Given the description of an element on the screen output the (x, y) to click on. 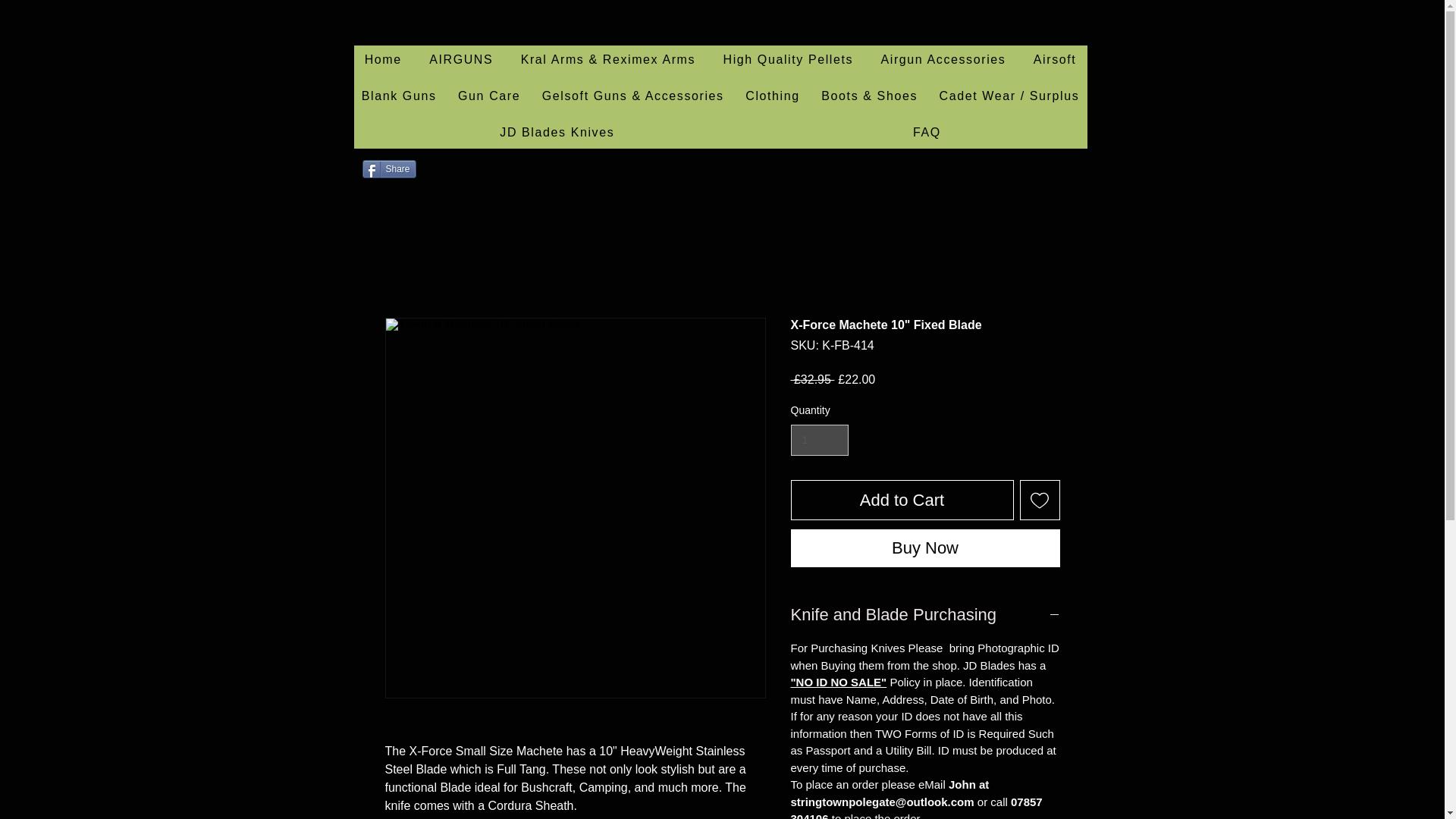
Add to Cart (901, 499)
1 (818, 440)
High Quality Pellets (787, 60)
Airsoft (1055, 60)
Share (389, 168)
AIRGUNS (461, 60)
Home (382, 60)
Buy Now (924, 548)
Airgun Accessories (942, 60)
Share (389, 168)
Knife and Blade Purchasing (924, 615)
Gun Care (488, 96)
JD Blades Knives (556, 132)
Clothing (773, 96)
Blank Guns (398, 96)
